Given the description of an element on the screen output the (x, y) to click on. 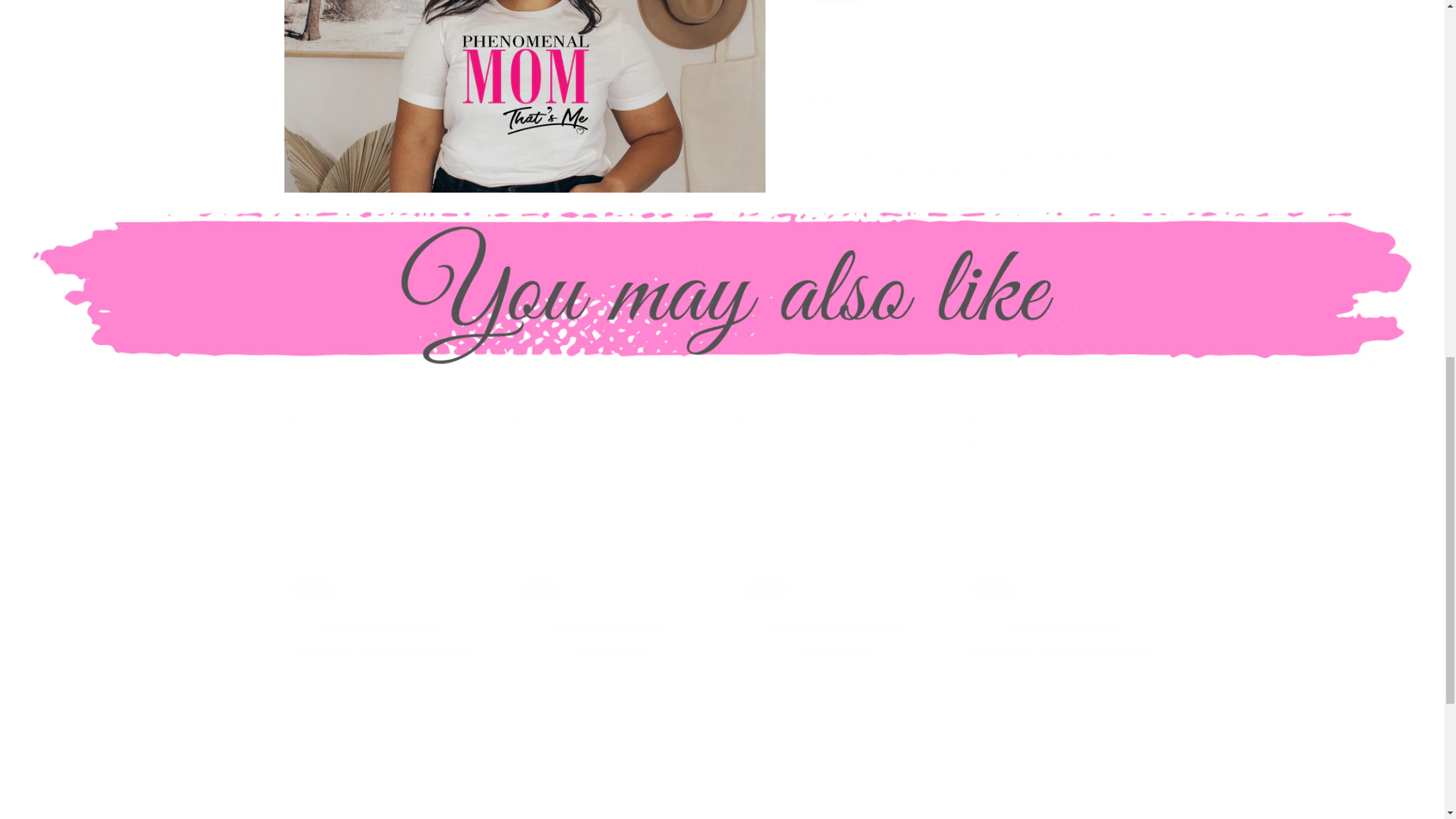
1 (860, 35)
